Given the description of an element on the screen output the (x, y) to click on. 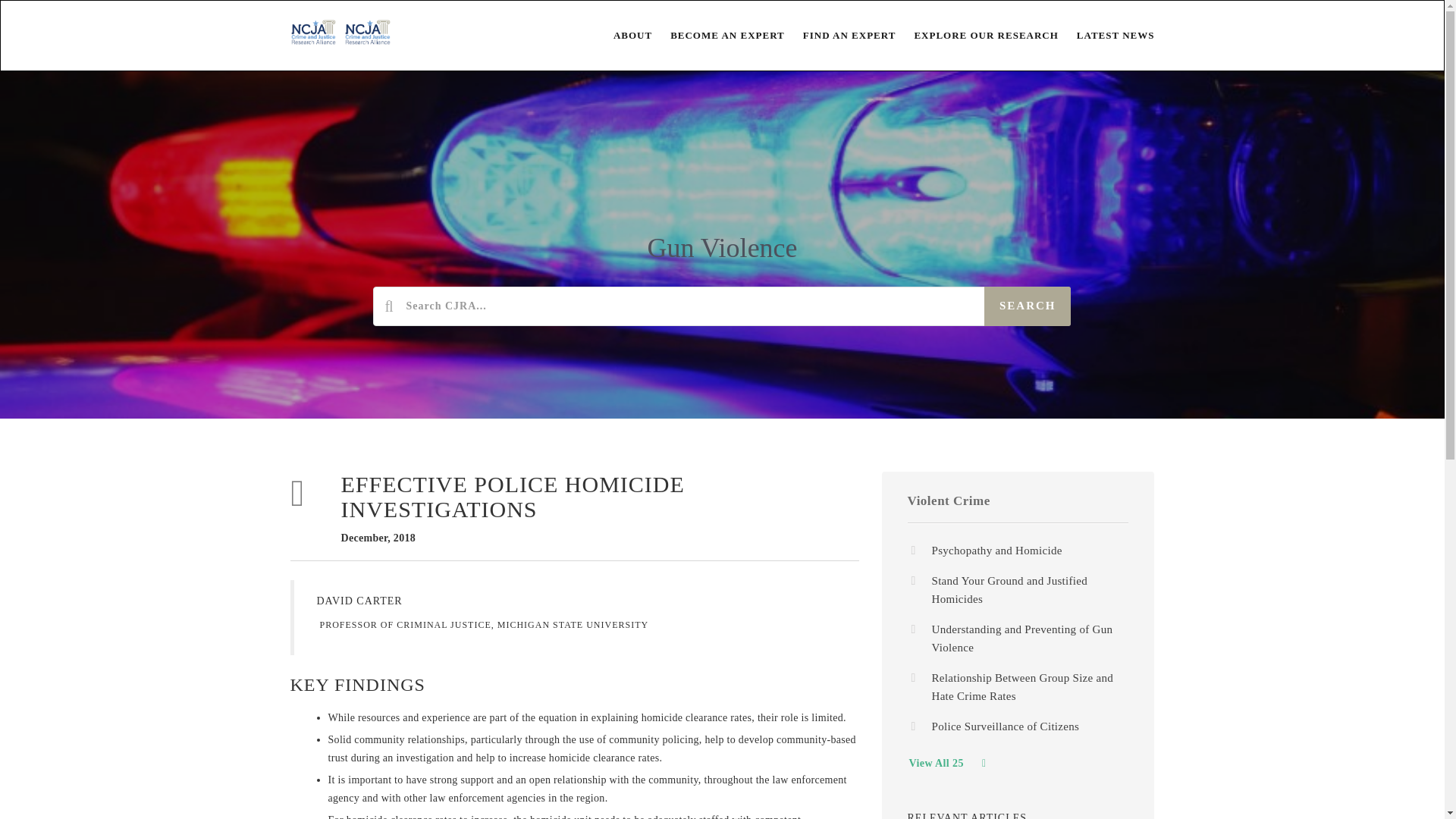
Search (1027, 305)
ABOUT (623, 35)
Search (1027, 305)
Stand Your Ground and Justified Homicides (1009, 589)
EXPLORE OUR RESEARCH (976, 35)
View All 25 (947, 763)
Understanding and Preventing of Gun Violence (1021, 638)
LATEST NEWS (1106, 35)
DAVID CARTER (360, 600)
Violent Crime (948, 500)
Psychopathy and Homicide (996, 550)
Police Surveillance of Citizens (1004, 726)
FIND AN EXPERT (840, 35)
BECOME AN EXPERT (718, 35)
Relationship Between Group Size and Hate Crime Rates (1022, 686)
